Given the description of an element on the screen output the (x, y) to click on. 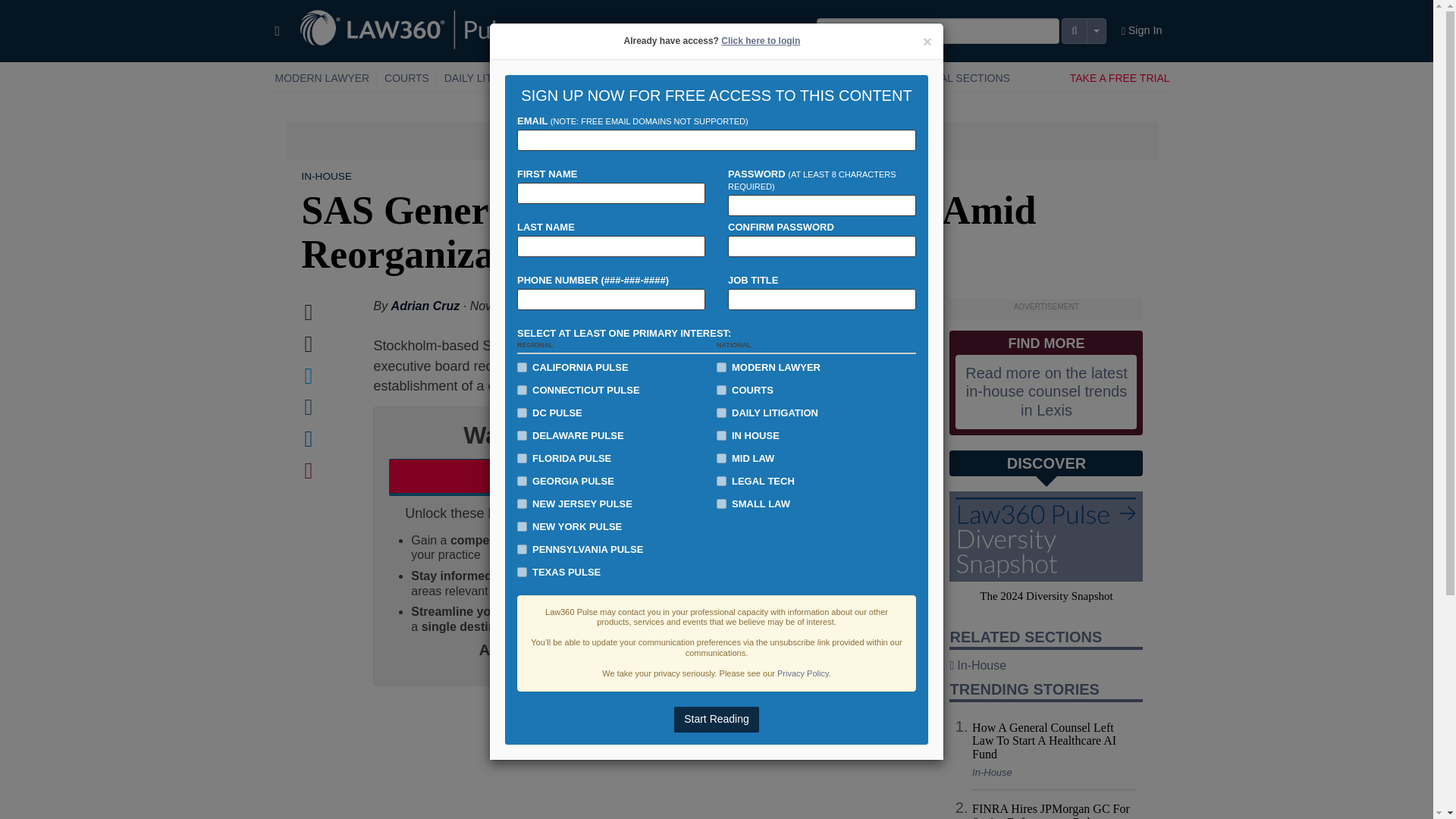
new-york-pulse (521, 526)
california-pulse (521, 367)
  Sign In (1141, 31)
Insights (857, 77)
INSIGHTS (857, 77)
Search Button (1074, 31)
Modern Lawyer (322, 77)
MODERN LAWYER (322, 77)
DAILY LITIGATION (489, 77)
Daily Litigation (489, 77)
connecticut-pulse (521, 389)
Legal Tech (710, 77)
modern-lawyer (721, 367)
georgia-pulse (521, 480)
pennsylvania-pulse (521, 549)
